Given the description of an element on the screen output the (x, y) to click on. 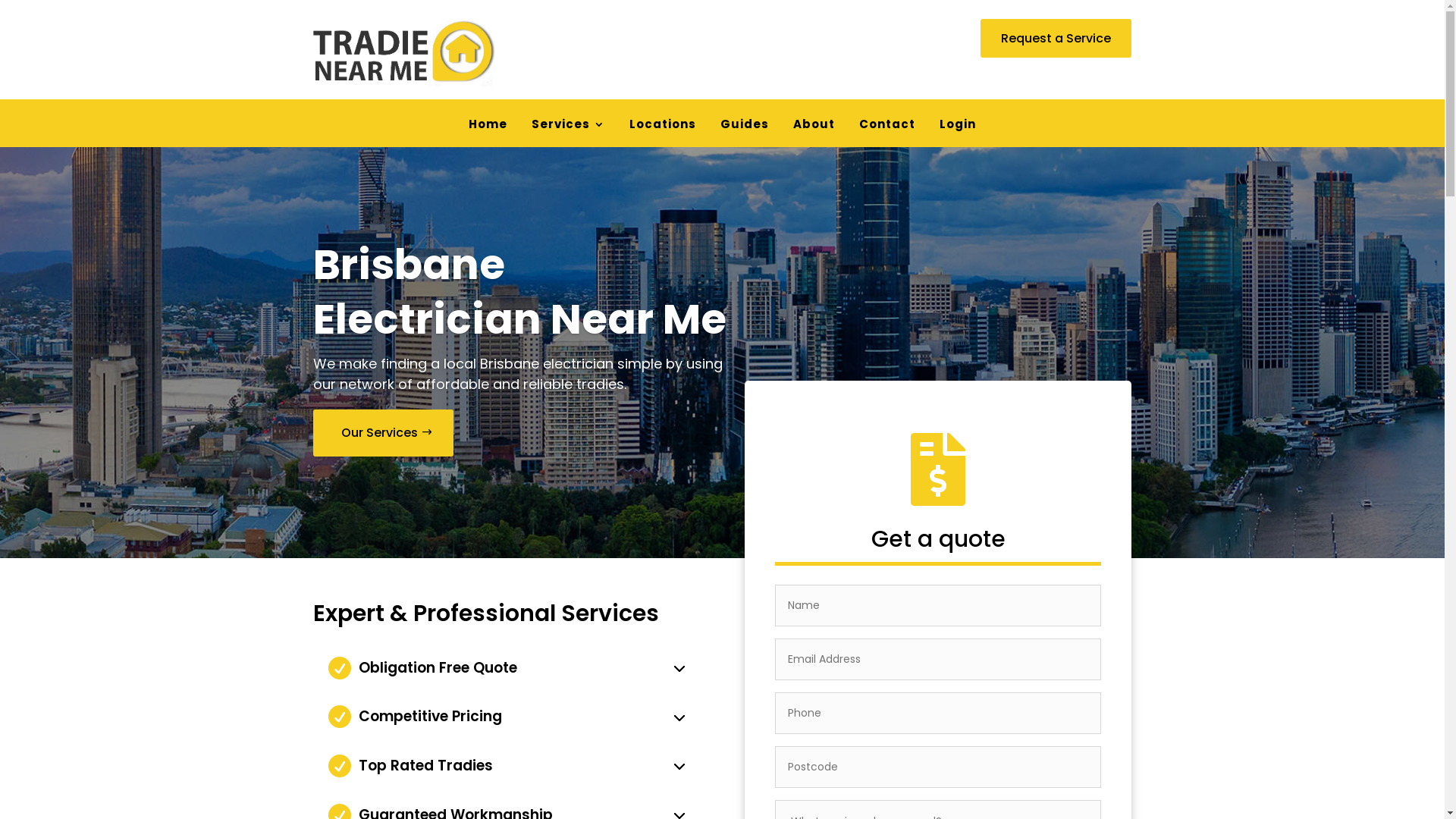
Home Element type: text (487, 127)
Guides Element type: text (744, 127)
Our Services Element type: text (382, 432)
Locations Element type: text (662, 127)
Request a Service Element type: text (1055, 37)
Login Element type: text (957, 127)
Contact Element type: text (887, 127)
tradie-near-me Element type: hover (403, 52)
Brisbane
Electrician Near Me Element type: text (518, 291)
About Element type: text (813, 127)
Services Element type: text (568, 127)
